Given the description of an element on the screen output the (x, y) to click on. 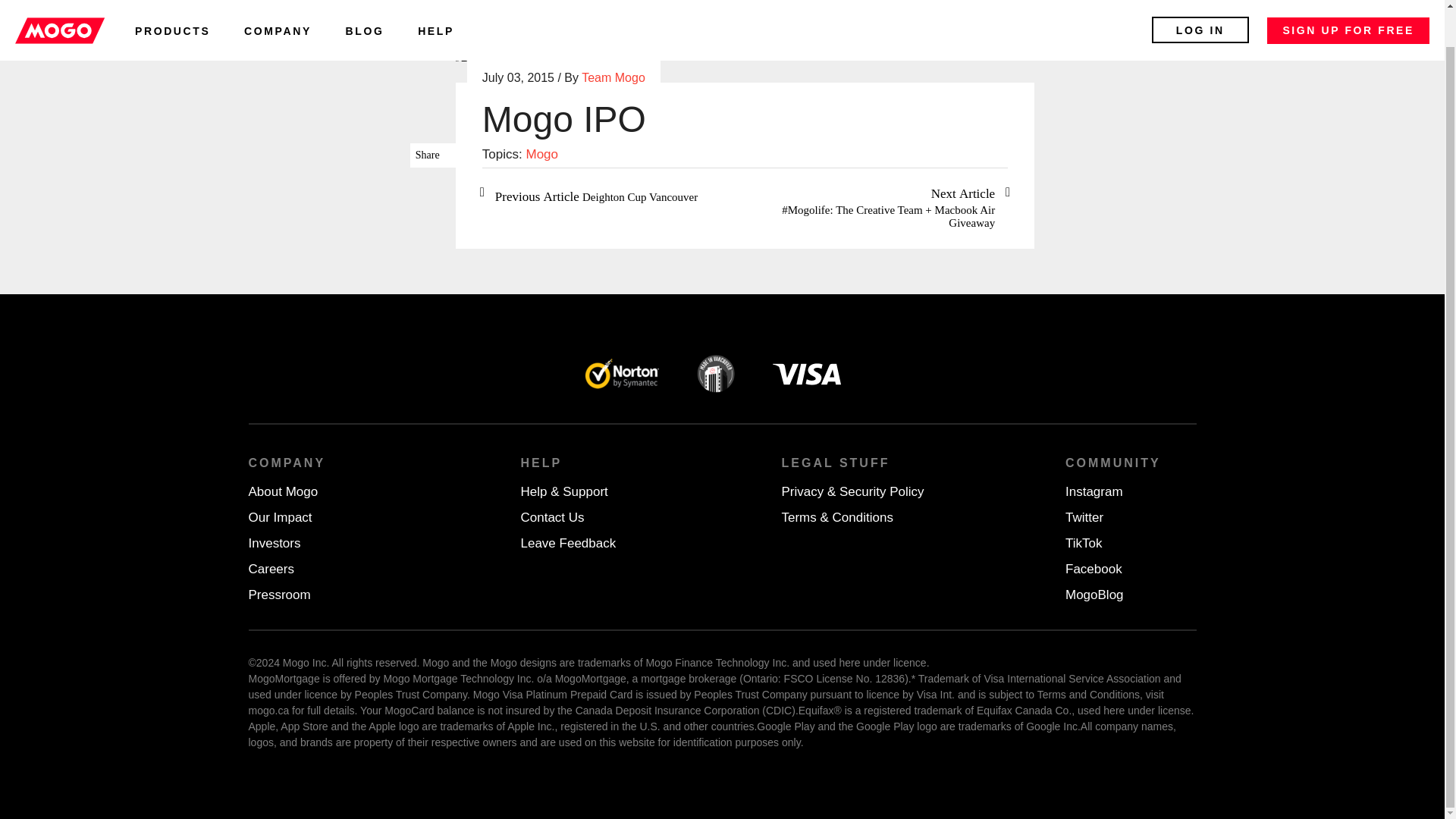
COMPANY (277, 11)
BLOG (365, 11)
BACK TO BLOG (510, 57)
PRODUCTS (172, 11)
SIGN UP FOR FREE (1347, 2)
LOG IN (1200, 2)
HELP (435, 11)
